Given the description of an element on the screen output the (x, y) to click on. 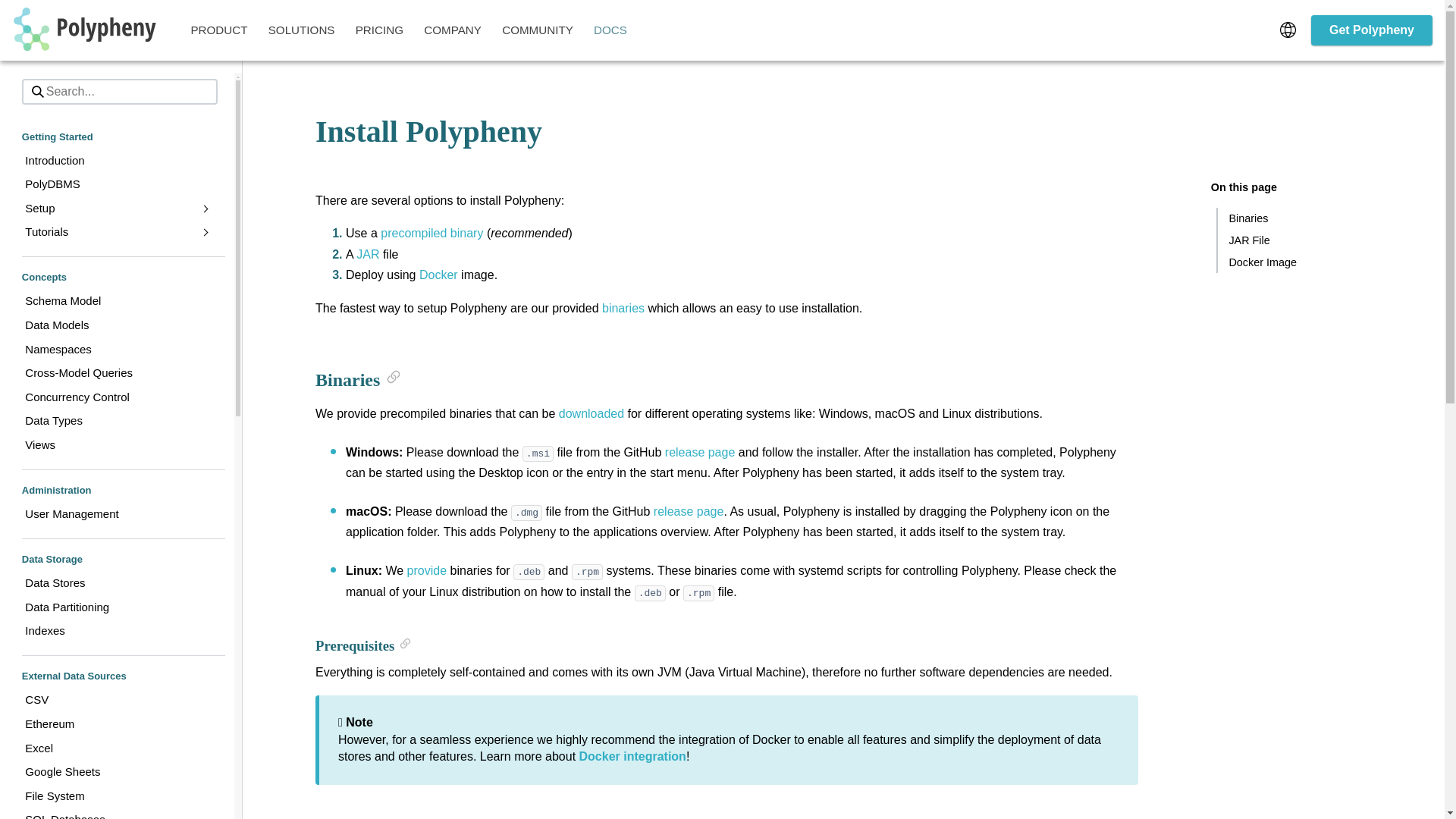
Data Partitioning (116, 607)
COMPANY (452, 30)
COMMUNITY (537, 30)
CSV (116, 700)
User Management (116, 514)
Data Types (116, 421)
Get Polypheny (1371, 30)
Indexes (116, 631)
Excel (116, 748)
File System (116, 795)
PRICING (379, 30)
PolyDBMS (116, 184)
Data Models (116, 325)
SQL Databases (116, 813)
Google Sheets (116, 772)
